Given the description of an element on the screen output the (x, y) to click on. 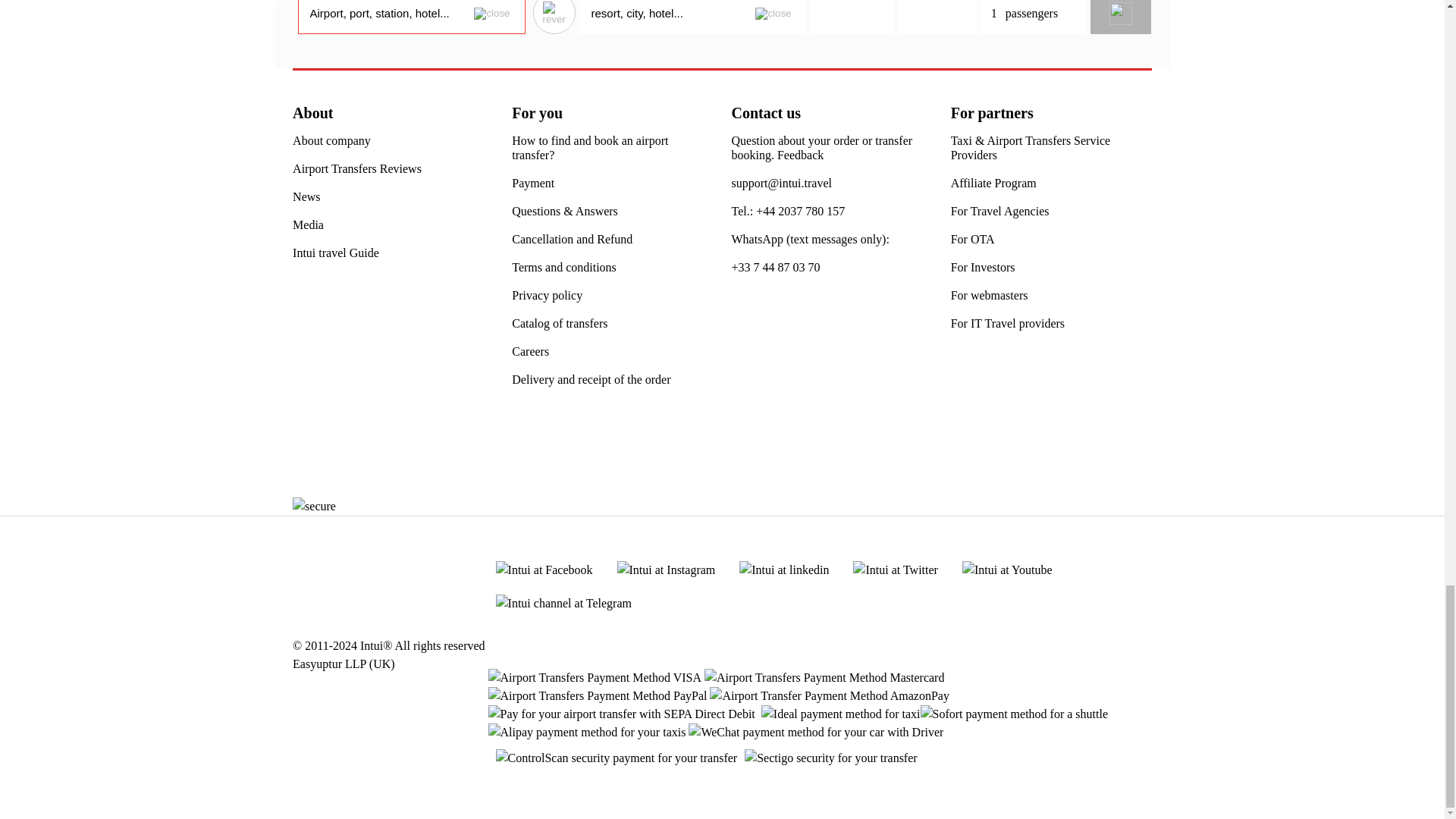
About company (331, 140)
Terms and conditions (563, 267)
News (306, 196)
Payment (533, 183)
Intui travel Guide (335, 252)
Media (307, 224)
Airport Transfers Reviews (357, 168)
Privacy policy (547, 295)
How to find and book an airport transfer? (612, 147)
Cancellation and Refund  (571, 238)
